Given the description of an element on the screen output the (x, y) to click on. 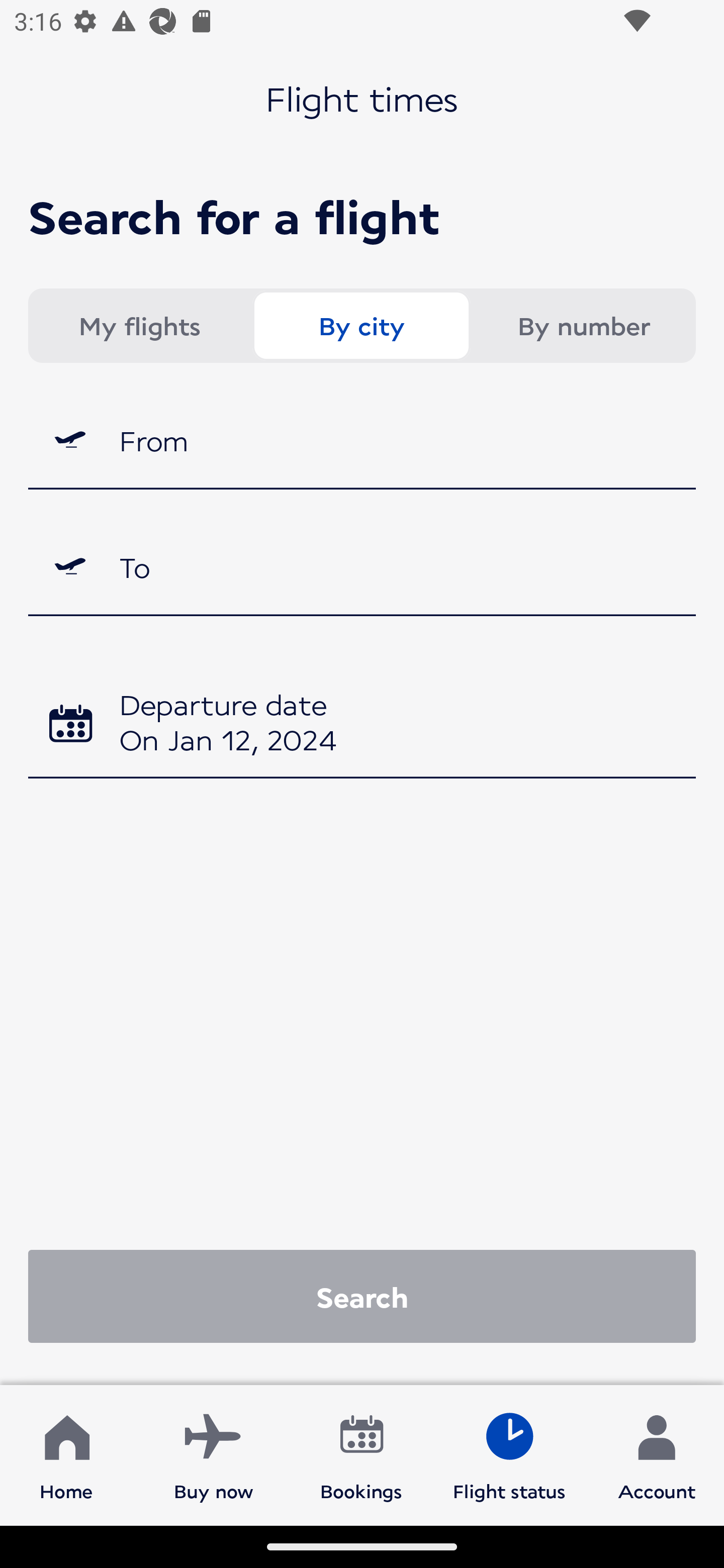
My flights (139, 325)
By city (361, 325)
By number (583, 325)
From (361, 439)
To (361, 566)
On Jan 12, 2024 Departure date (361, 724)
Search (361, 1295)
Home (66, 1454)
Buy now (213, 1454)
Bookings (361, 1454)
Account (657, 1454)
